Given the description of an element on the screen output the (x, y) to click on. 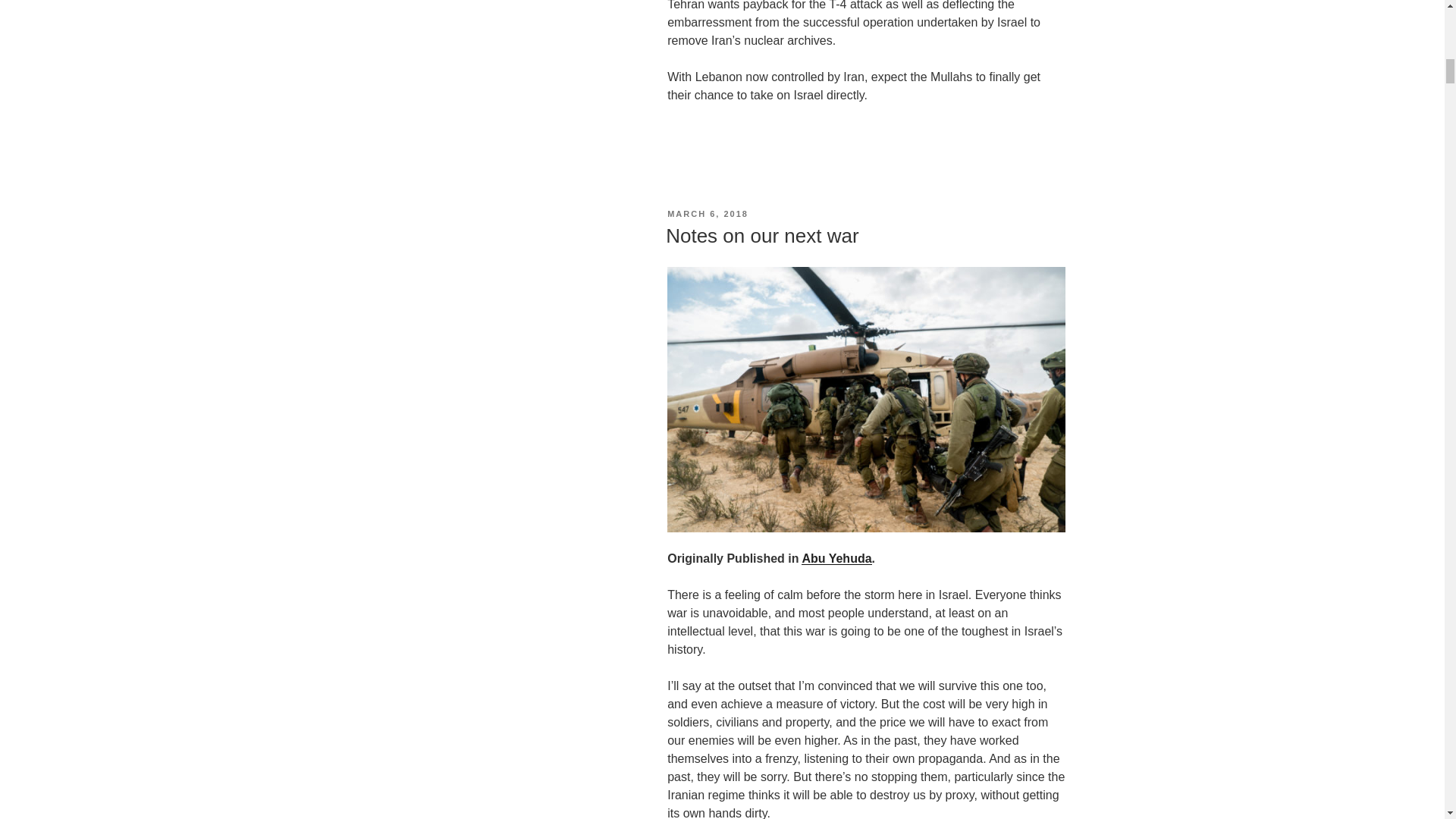
MARCH 6, 2018 (707, 213)
Notes on our next war (762, 235)
Abu Yehuda (836, 558)
